Given the description of an element on the screen output the (x, y) to click on. 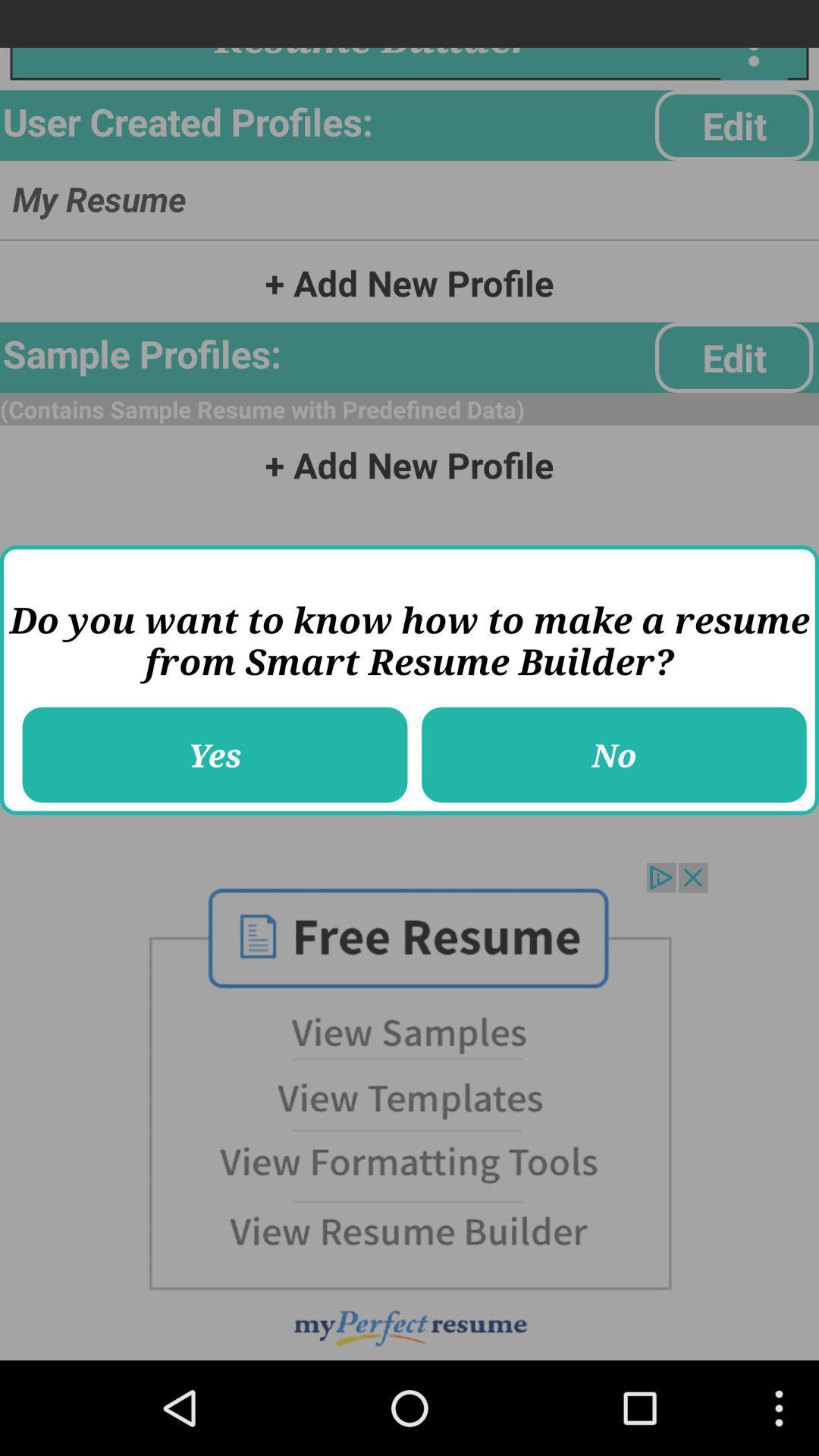
press item to the right of yes button (613, 754)
